Given the description of an element on the screen output the (x, y) to click on. 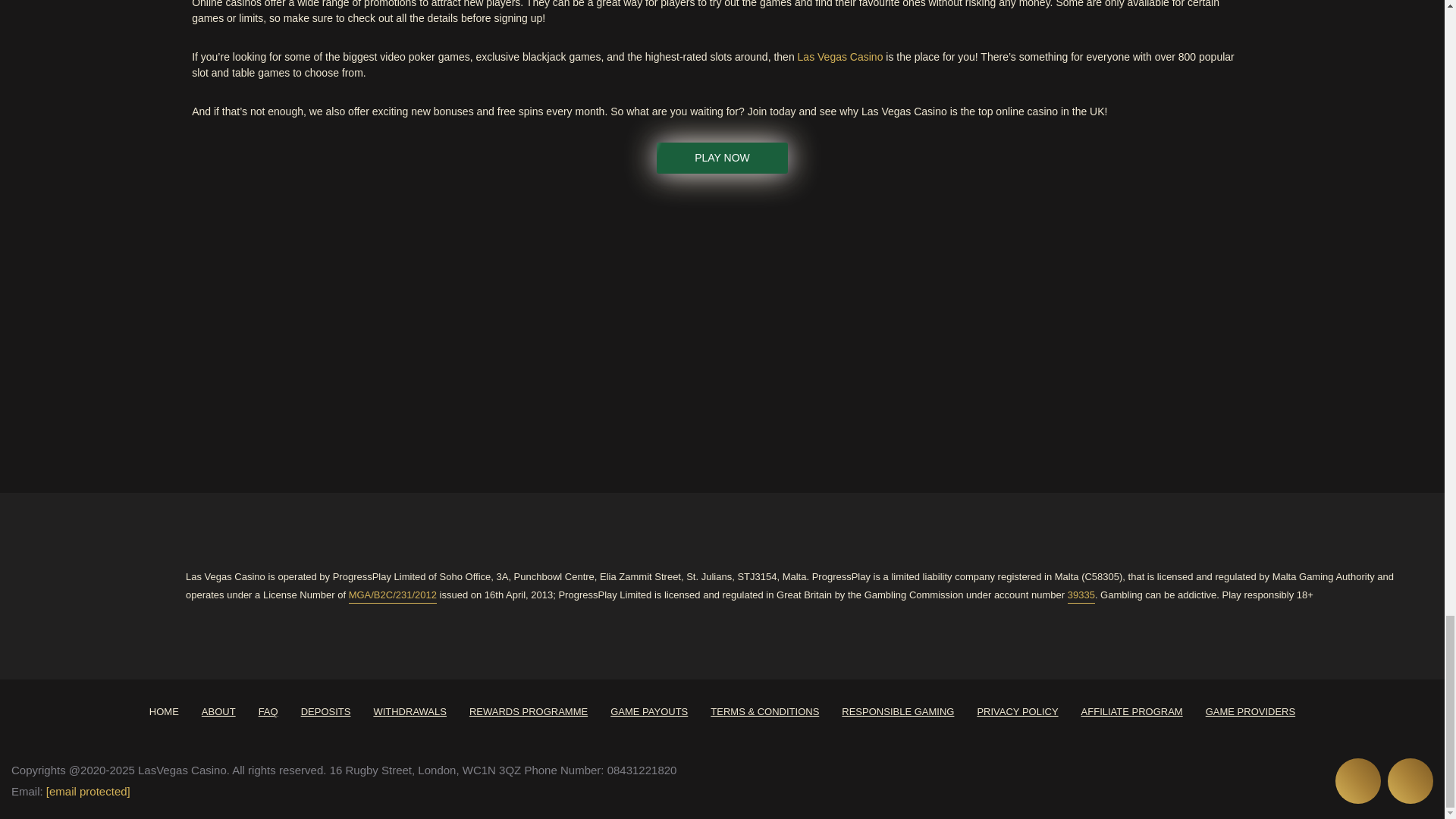
HOME (164, 711)
ABOUT (218, 711)
client logos (593, 327)
FAQ (268, 711)
Las Vegas Casino (840, 57)
client logos (850, 327)
client logos (77, 328)
39335 (1080, 595)
client logos (1108, 327)
client logos (205, 328)
